Given the description of an element on the screen output the (x, y) to click on. 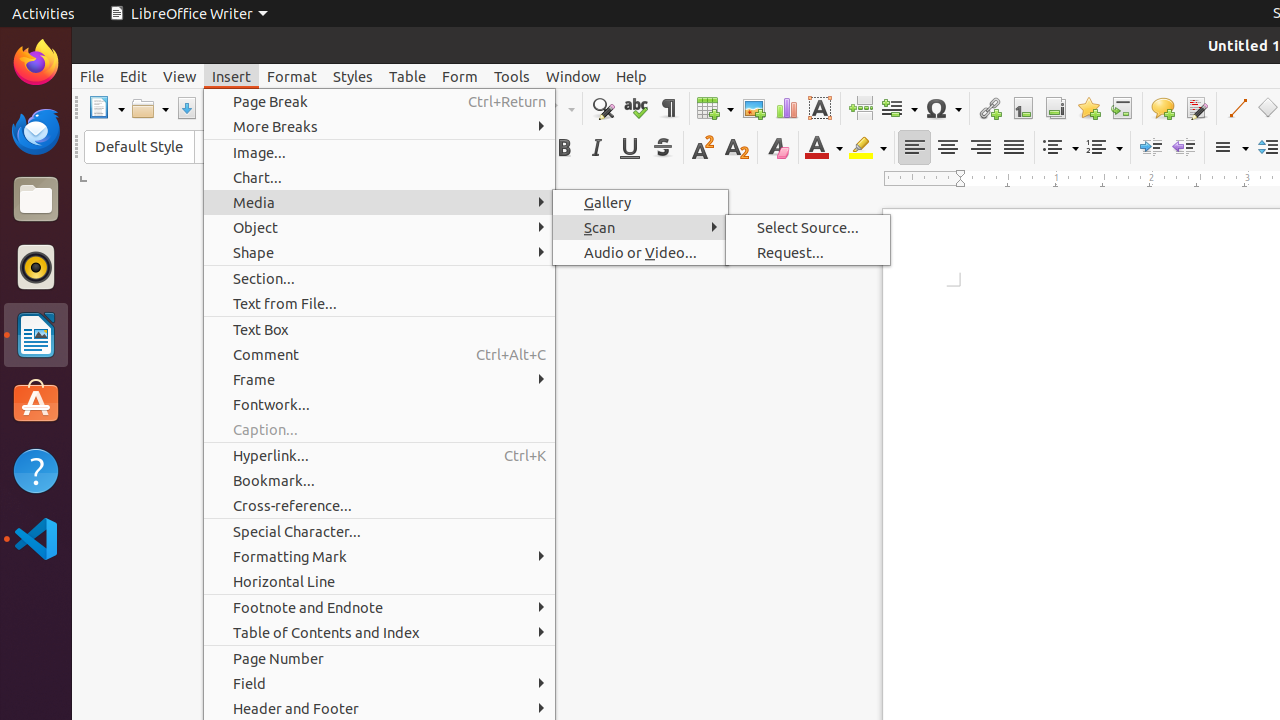
Image Element type: push-button (753, 108)
Cross-reference... Element type: menu-item (379, 505)
Table of Contents and Index Element type: menu (379, 632)
Ubuntu Software Element type: push-button (36, 402)
